Given the description of an element on the screen output the (x, y) to click on. 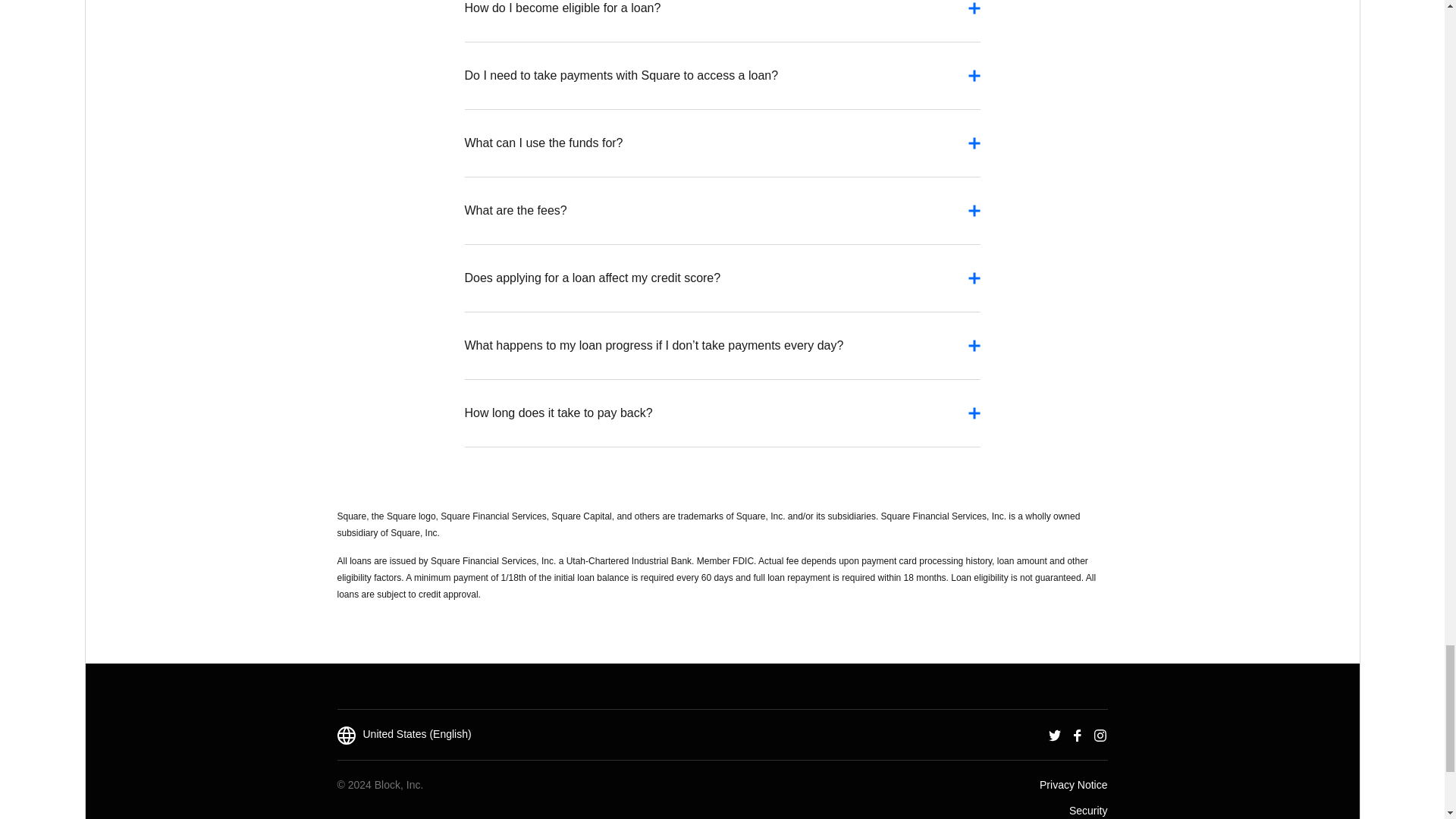
Instagram (1099, 734)
Twitter (1053, 734)
Privacy Notice (1072, 784)
How long does it take to pay back? (721, 420)
Facebook (1076, 734)
Security (1088, 809)
What can I use the funds for? (721, 150)
Do I need to take payments with Square to access a loan? (721, 83)
How do I become eligible for a loan? (721, 17)
Does applying for a loan affect my credit score? (721, 285)
What are the fees? (721, 217)
